Given the description of an element on the screen output the (x, y) to click on. 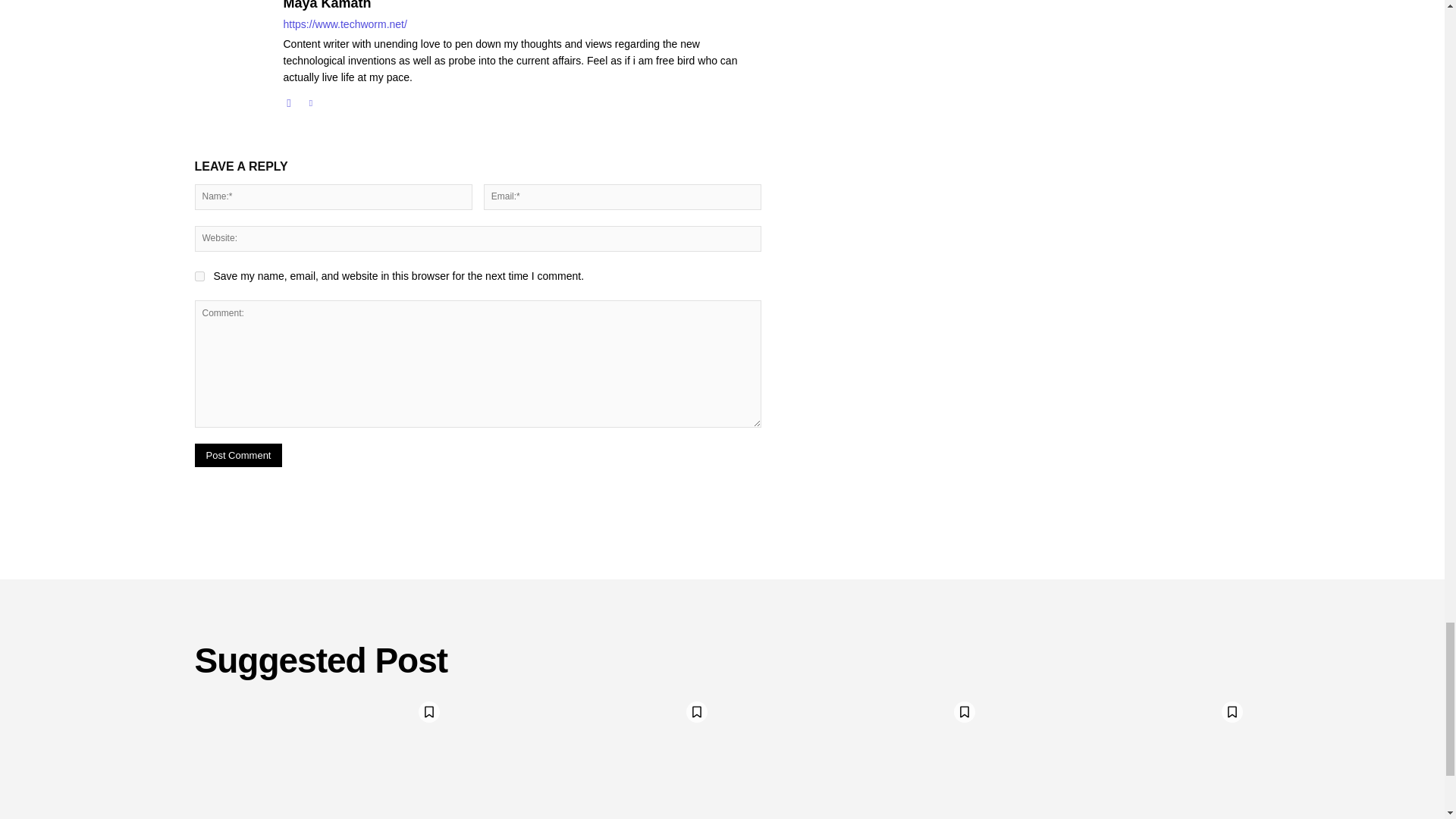
Post Comment (237, 454)
Maya Kamath (522, 6)
Post Comment (237, 454)
Twitter (309, 100)
Facebook (289, 100)
yes (198, 276)
